Given the description of an element on the screen output the (x, y) to click on. 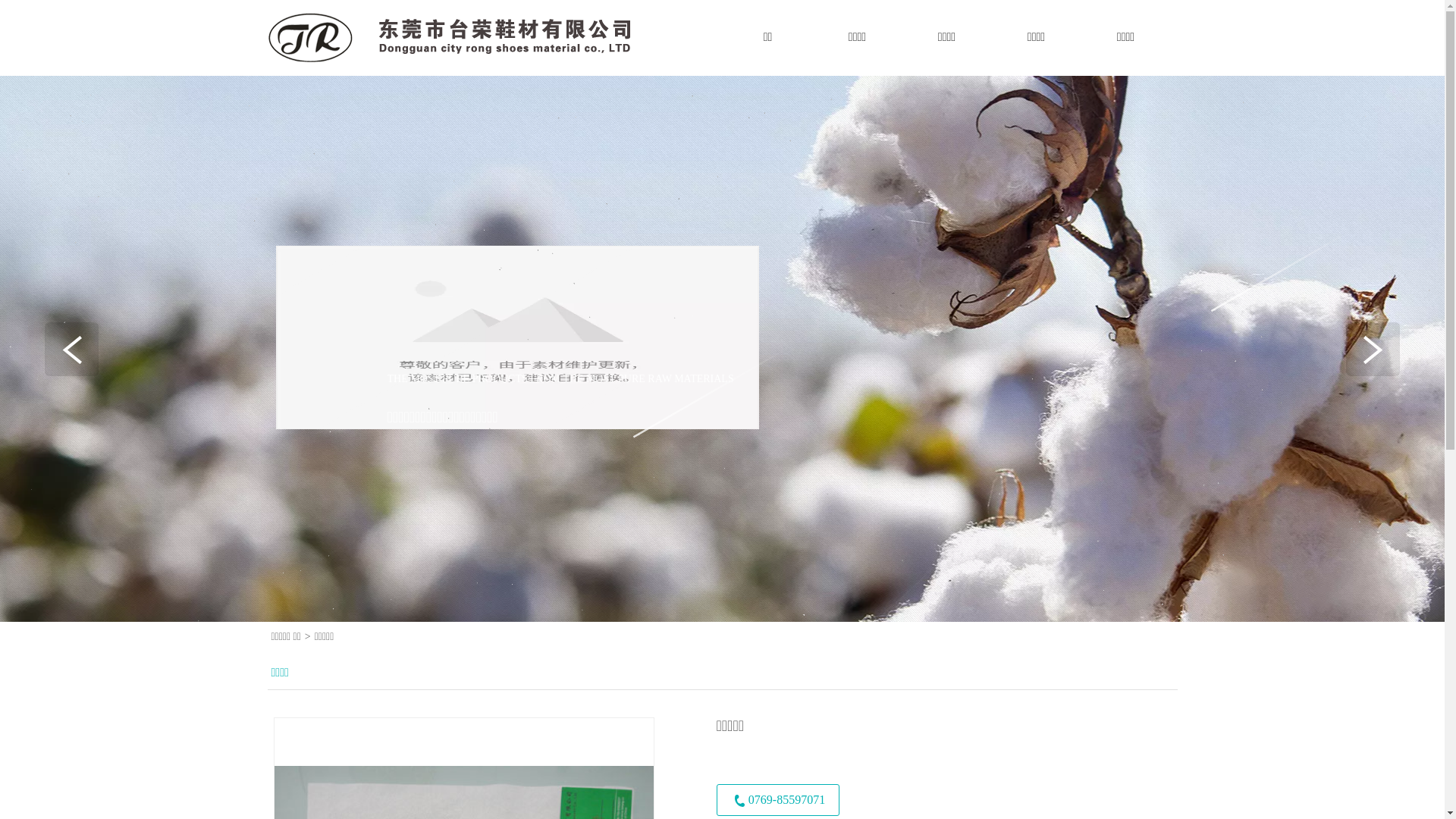
logo Element type: hover (448, 37)
0769-85597071 Element type: text (776, 799)
